Given the description of an element on the screen output the (x, y) to click on. 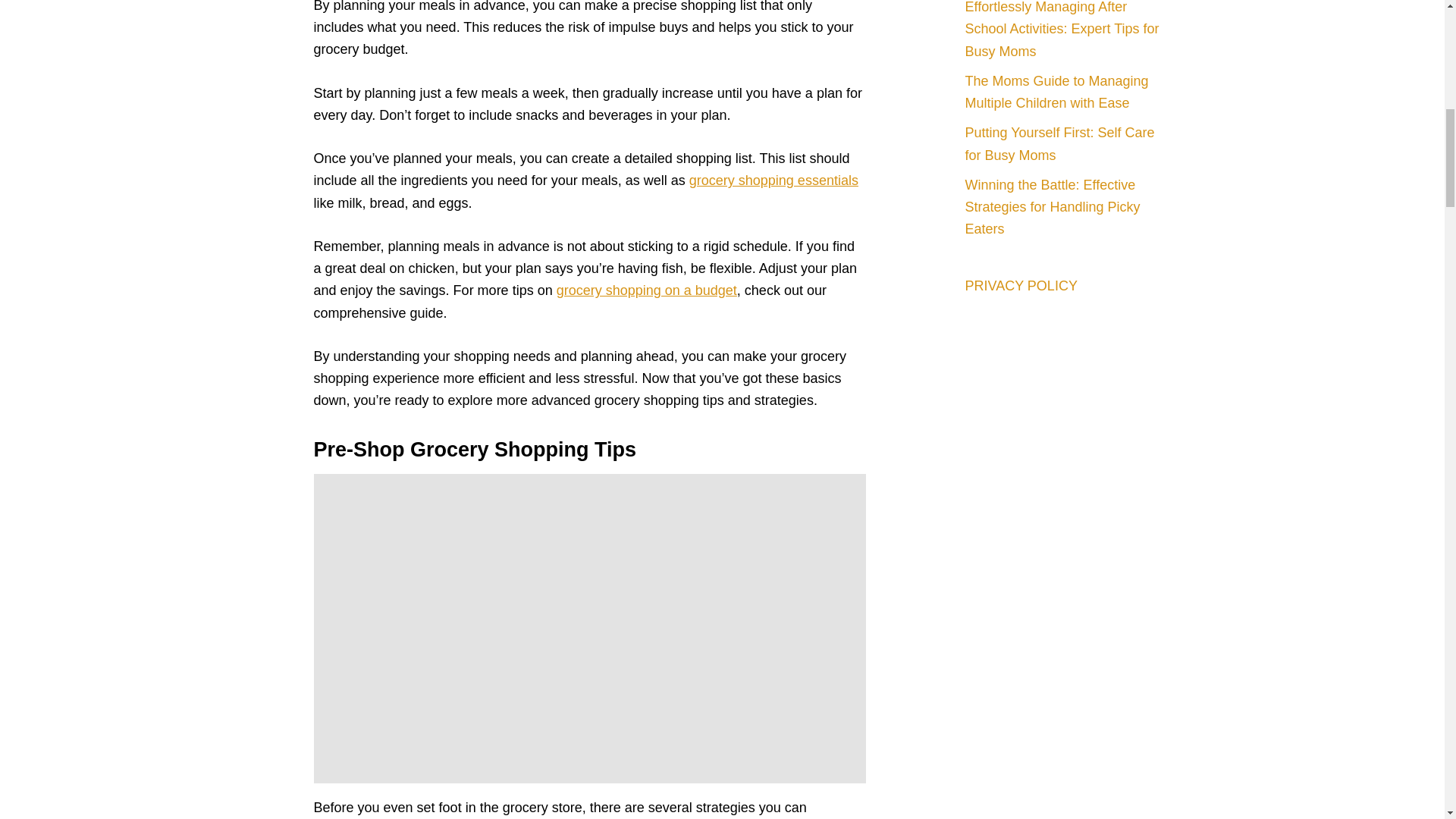
grocery shopping essentials (773, 180)
grocery shopping on a budget (646, 290)
